Given the description of an element on the screen output the (x, y) to click on. 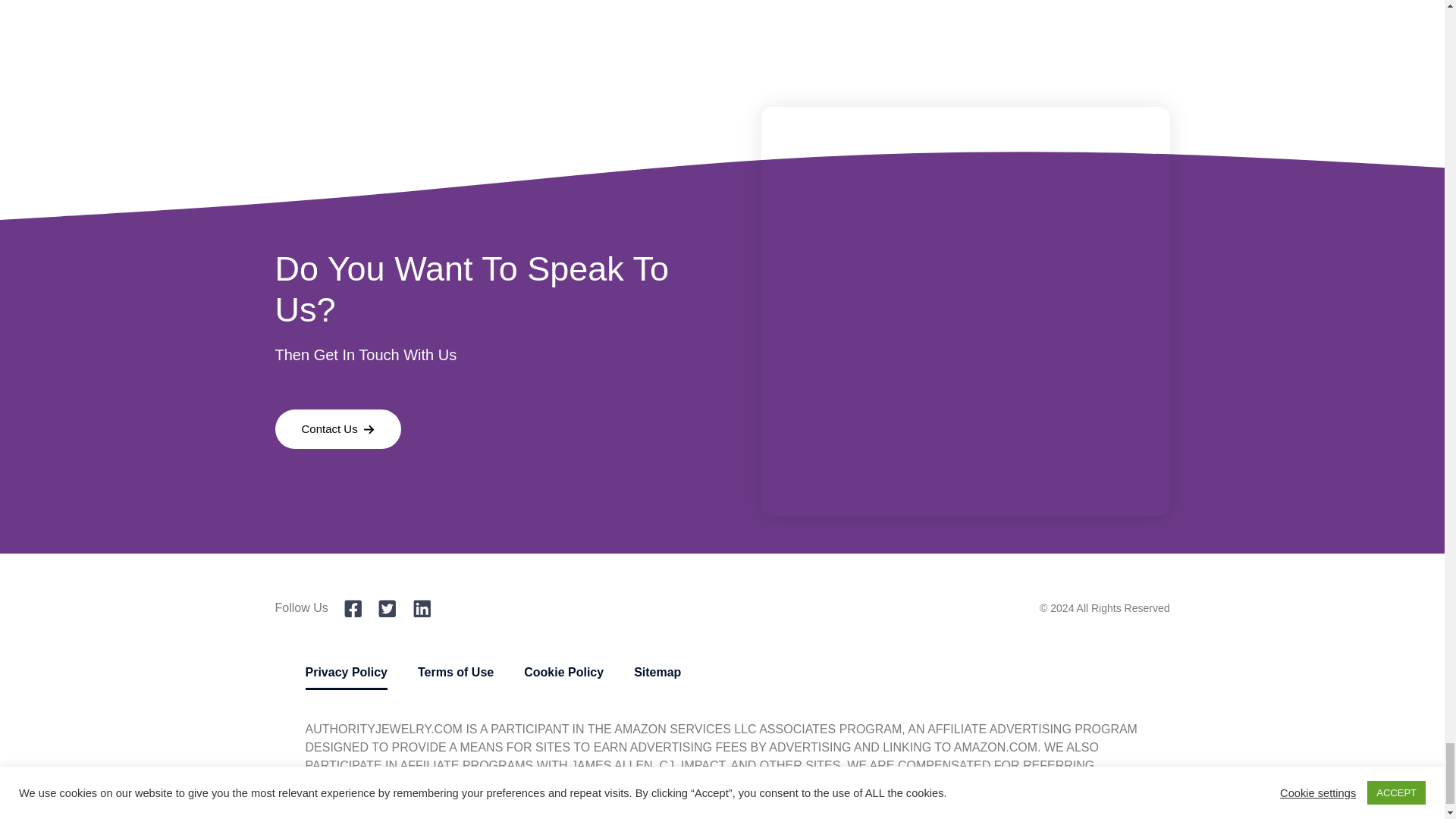
Terms of Use (455, 671)
Contact Us (338, 429)
Privacy Policy (345, 671)
Cookie Policy (564, 671)
